Given the description of an element on the screen output the (x, y) to click on. 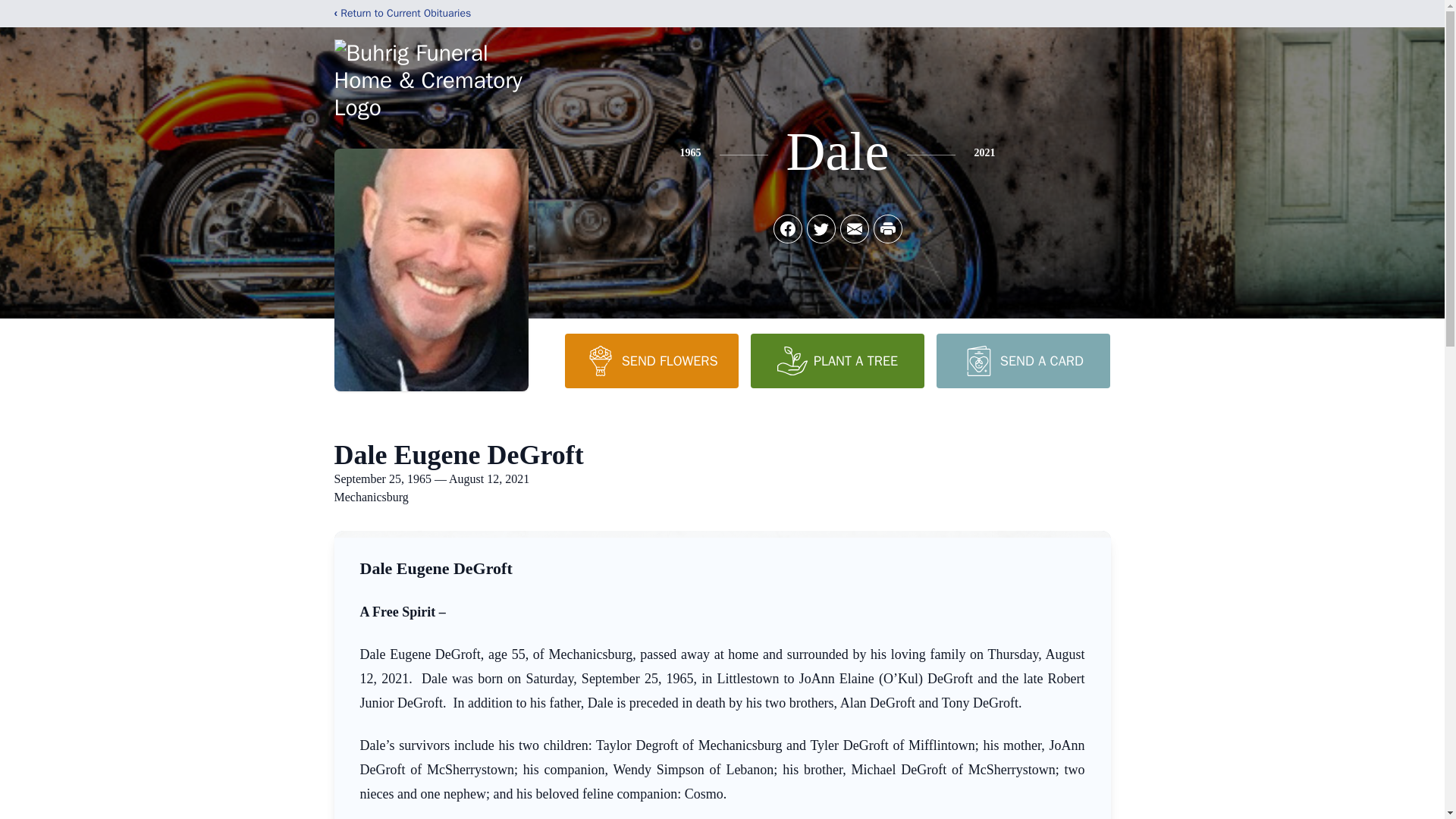
SEND A CARD (1022, 360)
PLANT A TREE (837, 360)
SEND FLOWERS (651, 360)
